Given the description of an element on the screen output the (x, y) to click on. 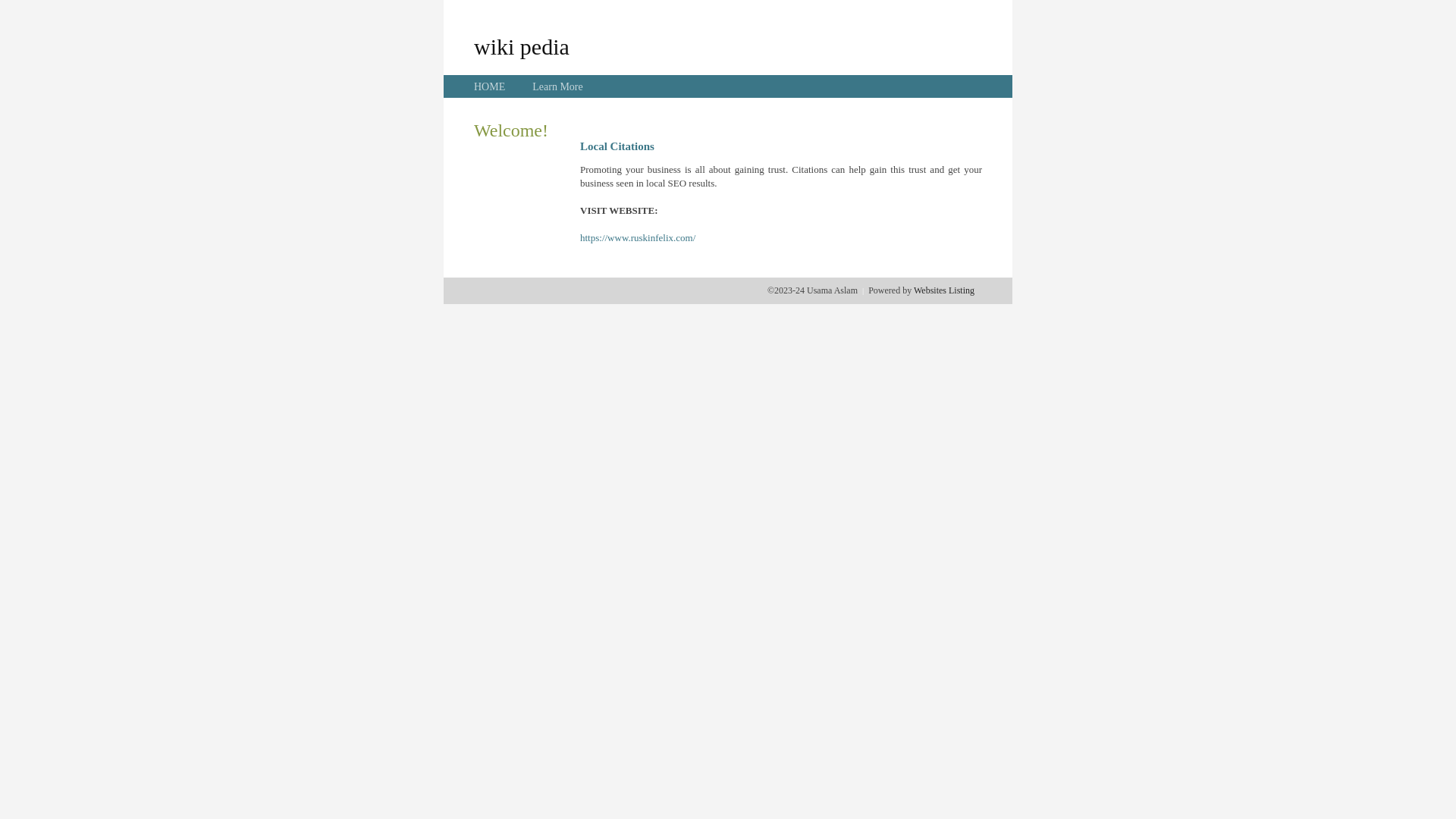
Learn More Element type: text (557, 86)
HOME Element type: text (489, 86)
https://www.ruskinfelix.com/ Element type: text (637, 237)
wiki pedia Element type: text (521, 46)
Websites Listing Element type: text (943, 290)
